Given the description of an element on the screen output the (x, y) to click on. 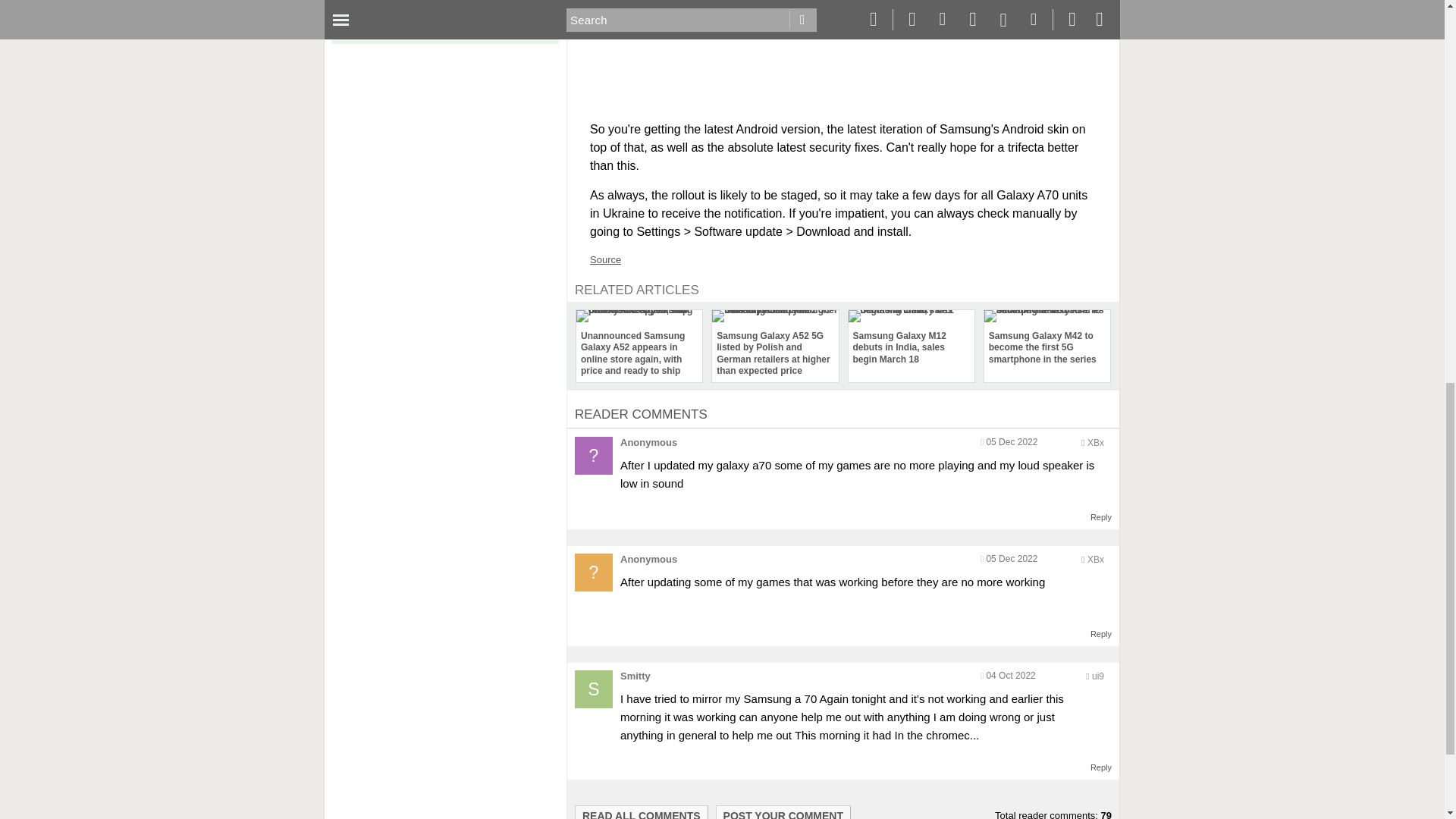
Reply to this post (1101, 767)
Source (605, 259)
Encoded anonymized location (1097, 675)
Reply to this post (1101, 516)
Samsung Galaxy M12 debuts in India, sales begin March 18 (910, 339)
Encoded anonymized location (1095, 442)
Encoded anonymized location (1095, 559)
Reply to this post (1101, 633)
